Given the description of an element on the screen output the (x, y) to click on. 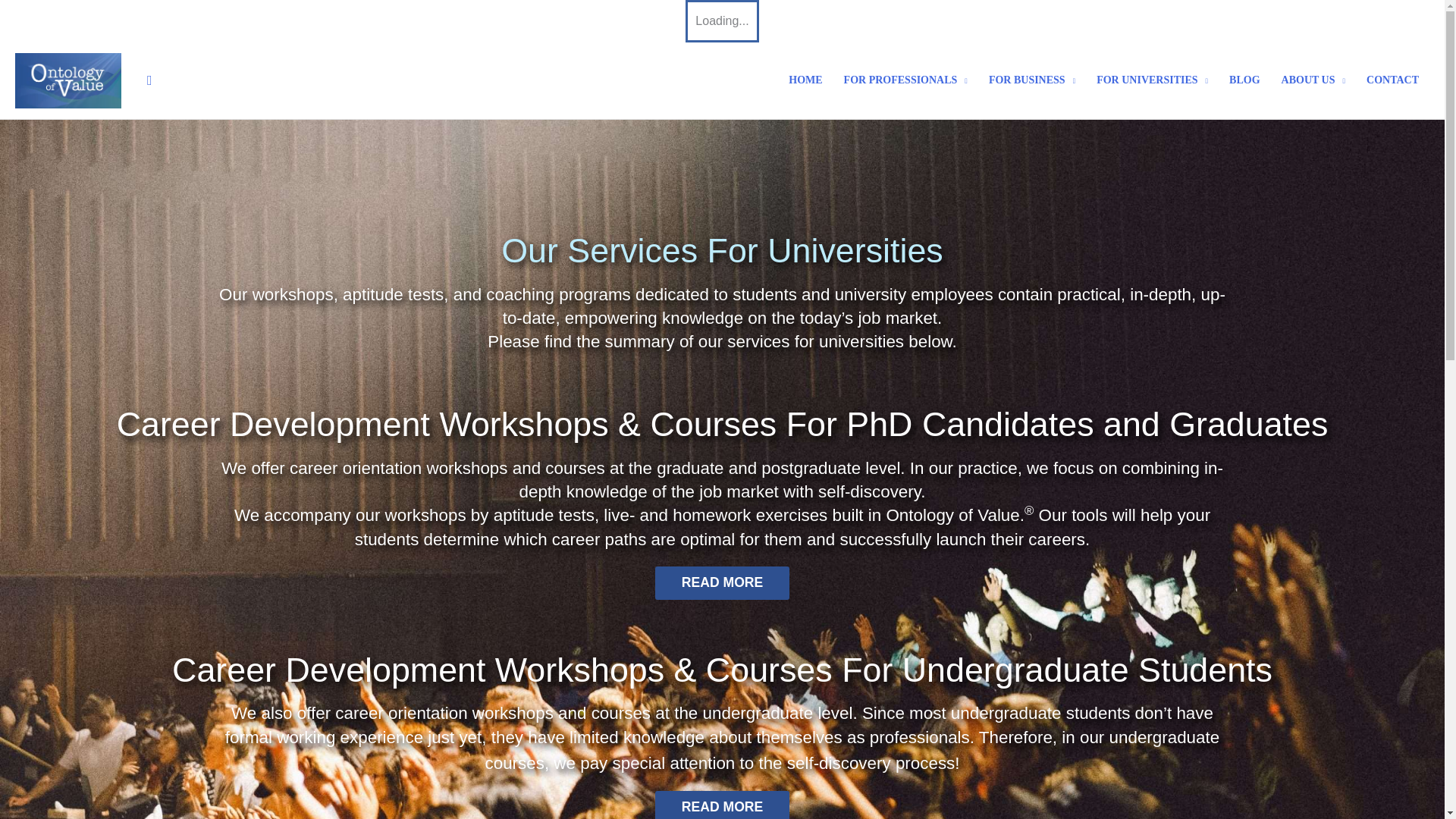
FOR BUSINESS (1032, 80)
HOME (804, 80)
FOR PROFESSIONALS (905, 80)
CONTACT (1392, 80)
FOR UNIVERSITIES (1152, 80)
ABOUT US (1313, 80)
BLOG (1243, 80)
